Given the description of an element on the screen output the (x, y) to click on. 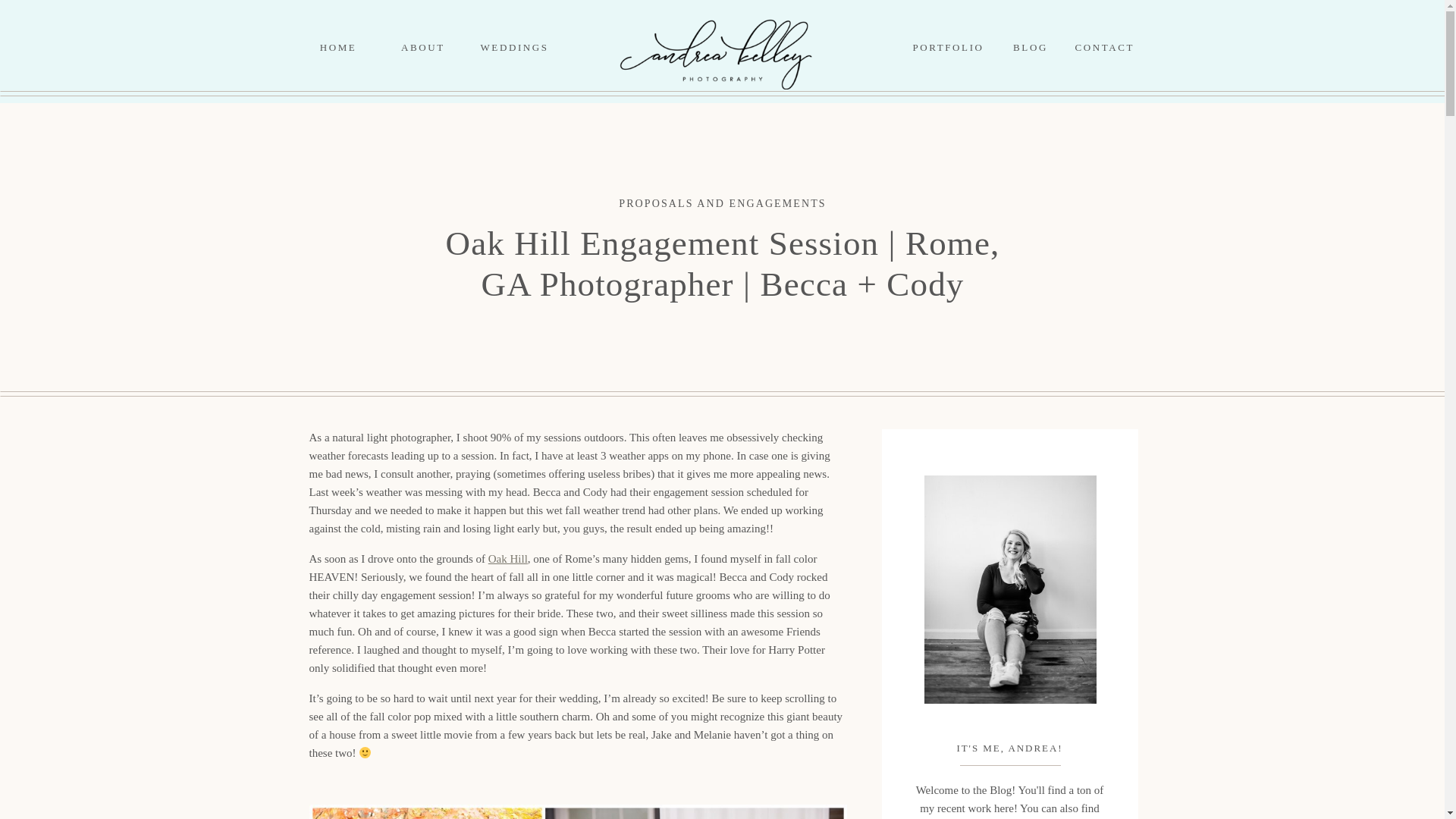
ABOUT (422, 47)
Oak Hill (507, 558)
PROPOSALS AND ENGAGEMENTS (721, 203)
CONTACT (1104, 47)
BLOG (1030, 47)
PORTFOLIO (948, 47)
HOME (338, 47)
WEDDINGS (507, 47)
